Given the description of an element on the screen output the (x, y) to click on. 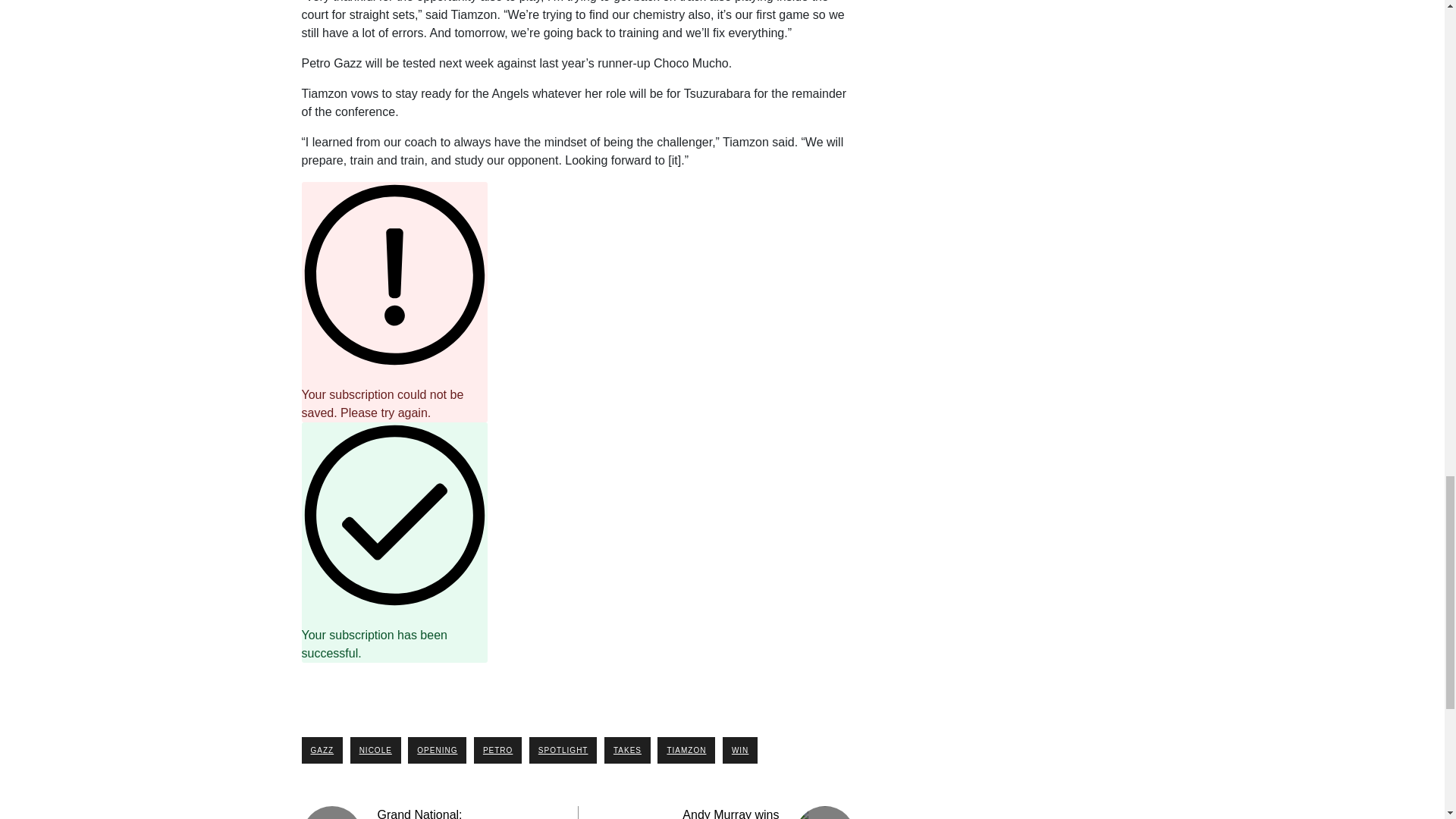
NICOLE (375, 750)
WIN (739, 750)
TIAMZON (686, 750)
SPOTLIGHT (562, 750)
PETRO (497, 750)
OPENING (436, 750)
GAZZ (322, 750)
TAKES (627, 750)
